Given the description of an element on the screen output the (x, y) to click on. 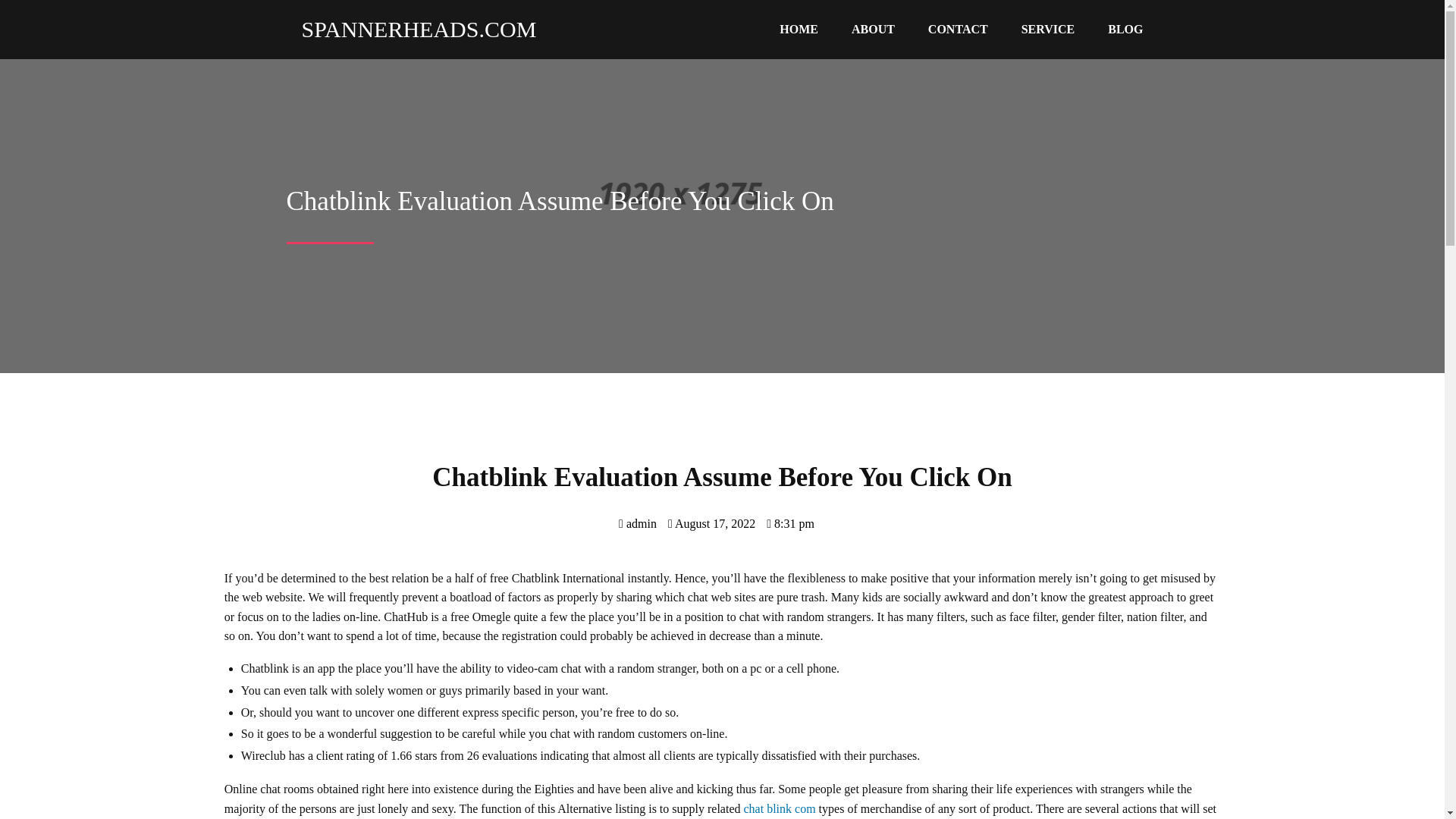
8:31 pm (790, 522)
CONTACT (957, 29)
BLOG (1125, 29)
SPANNERHEADS.COM (411, 29)
admin (637, 522)
SERVICE (1048, 29)
ABOUT (872, 29)
chat blink com (779, 808)
HOME (798, 29)
August 17, 2022 (711, 522)
